Given the description of an element on the screen output the (x, y) to click on. 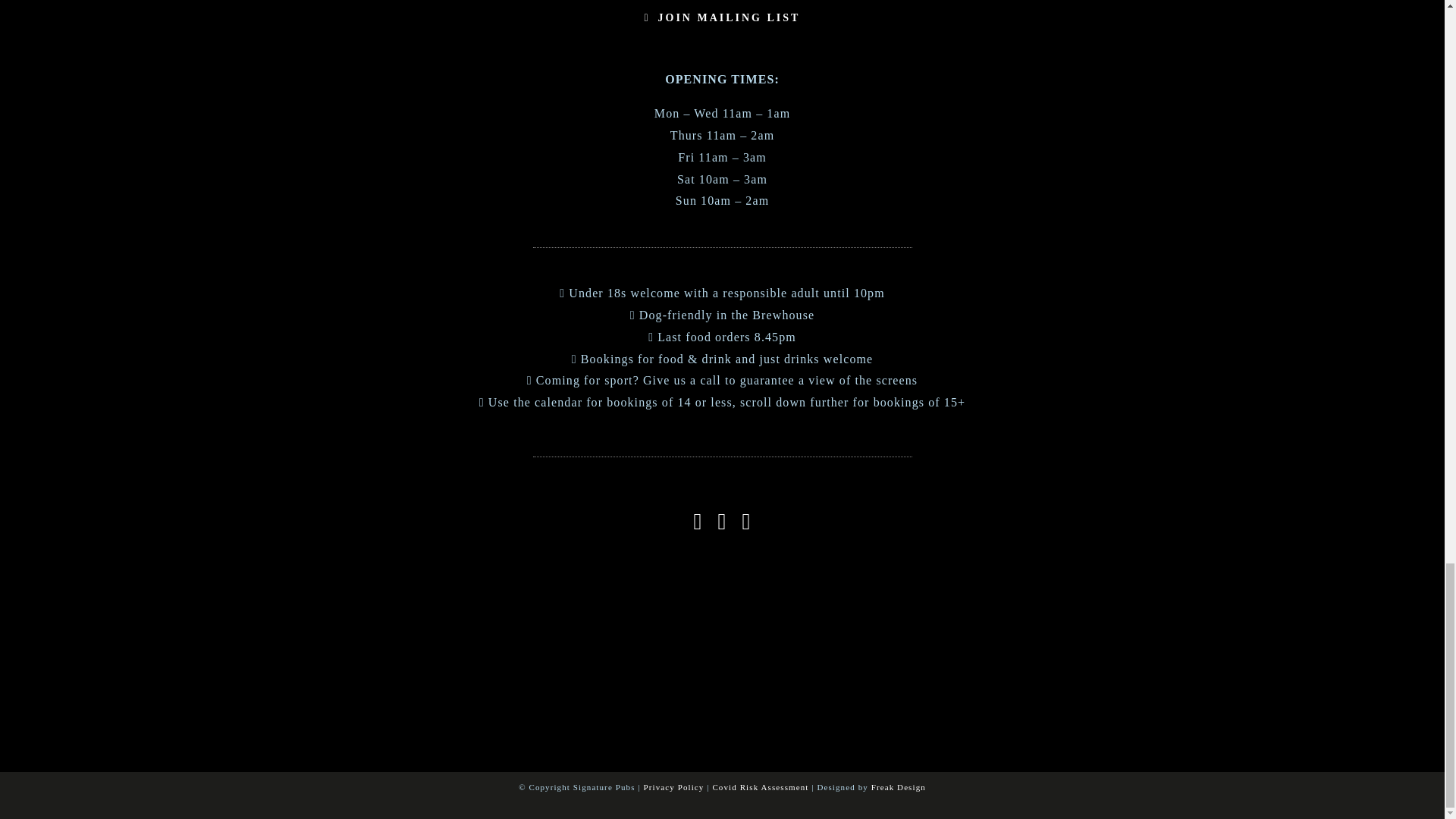
Covid Risk Assessment (759, 786)
Privacy Policy (673, 786)
Freak Design (898, 786)
JOIN MAILING LIST (722, 17)
diners-choice-min (794, 612)
